Given the description of an element on the screen output the (x, y) to click on. 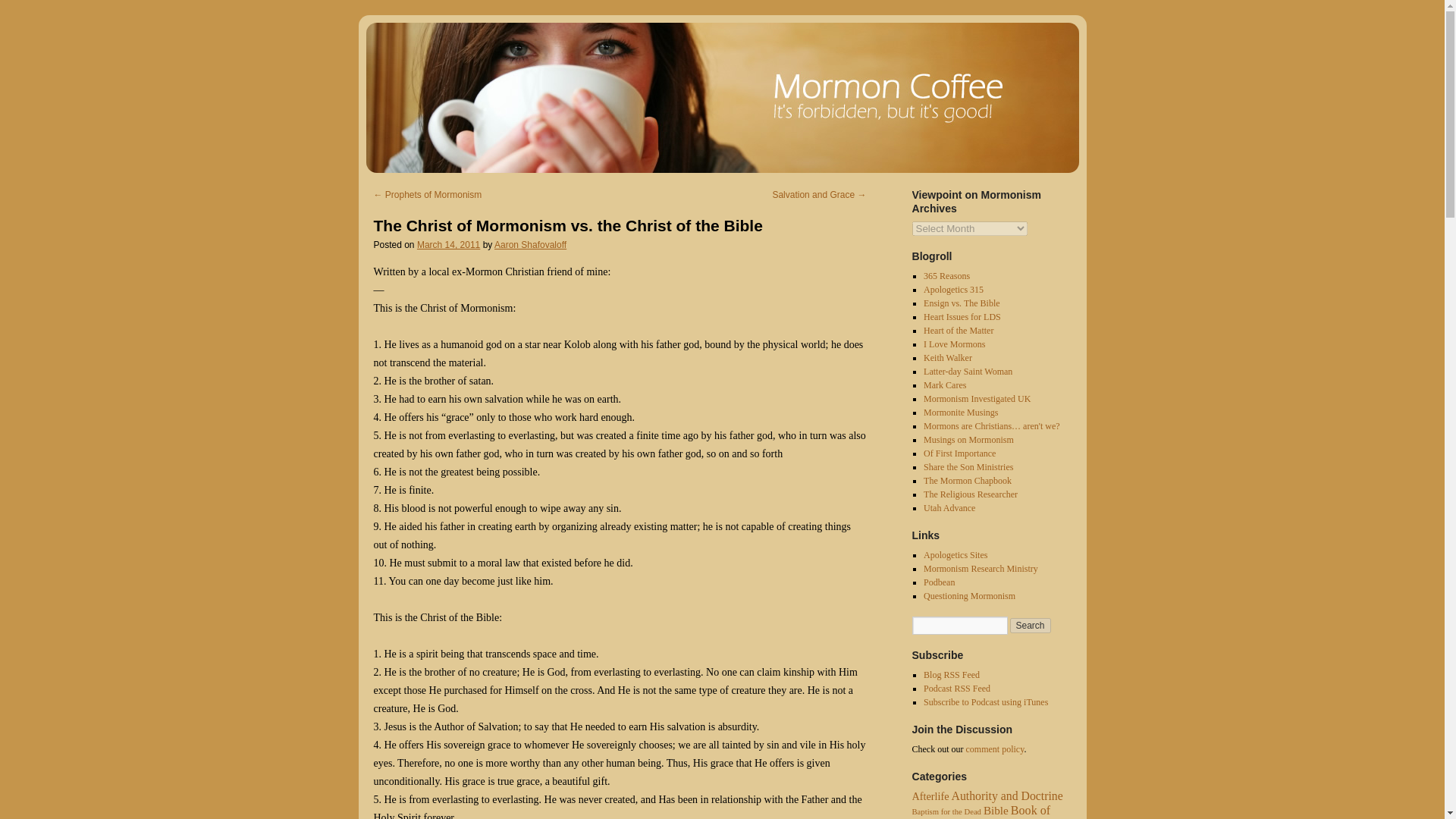
View all posts by Aaron Shafovaloff (530, 244)
I Love Mormons (954, 344)
Mormonism Investigated UK (976, 398)
Aaron Shafovaloff (530, 244)
Mark Cares (944, 385)
Keith Walker (947, 357)
Of First Importance (959, 452)
Viewpoint on Mormonism shows on Podbean (939, 582)
March 14, 2011 (448, 244)
Share the Son Ministries (968, 466)
Heart Issues for LDS (962, 317)
Heart of the Matter (957, 330)
Latter-day Saint Woman (967, 371)
Musings on Mormonism (968, 439)
7:00 am (448, 244)
